Given the description of an element on the screen output the (x, y) to click on. 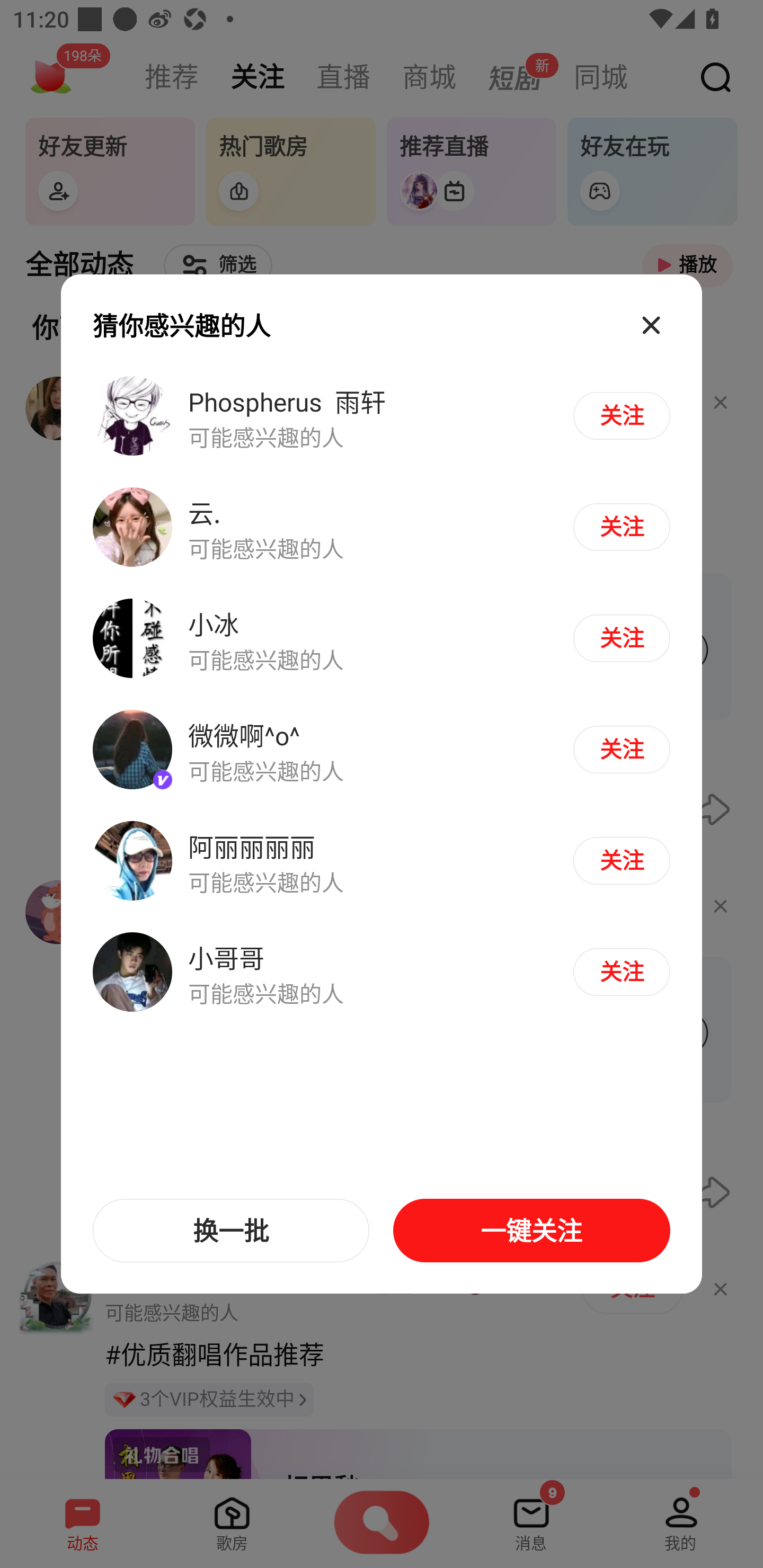
Phospherus  雨轩 可能感兴趣的人 关注 按钮 (381, 415)
关注 按钮 (621, 415)
云. 可能感兴趣的人 关注 按钮 (381, 527)
关注 按钮 (621, 526)
小冰 可能感兴趣的人 关注 按钮 (381, 638)
关注 按钮 (621, 637)
微微啊^o^ 可能感兴趣的人 关注 按钮 (381, 749)
关注 按钮 (621, 749)
阿丽丽丽丽 可能感兴趣的人 关注 按钮 (381, 860)
关注 按钮 (621, 860)
小哥哥 可能感兴趣的人 关注 按钮 (381, 971)
关注 按钮 (621, 971)
换一批 按钮 (231, 1230)
一键关注 按钮 (530, 1230)
